Given the description of an element on the screen output the (x, y) to click on. 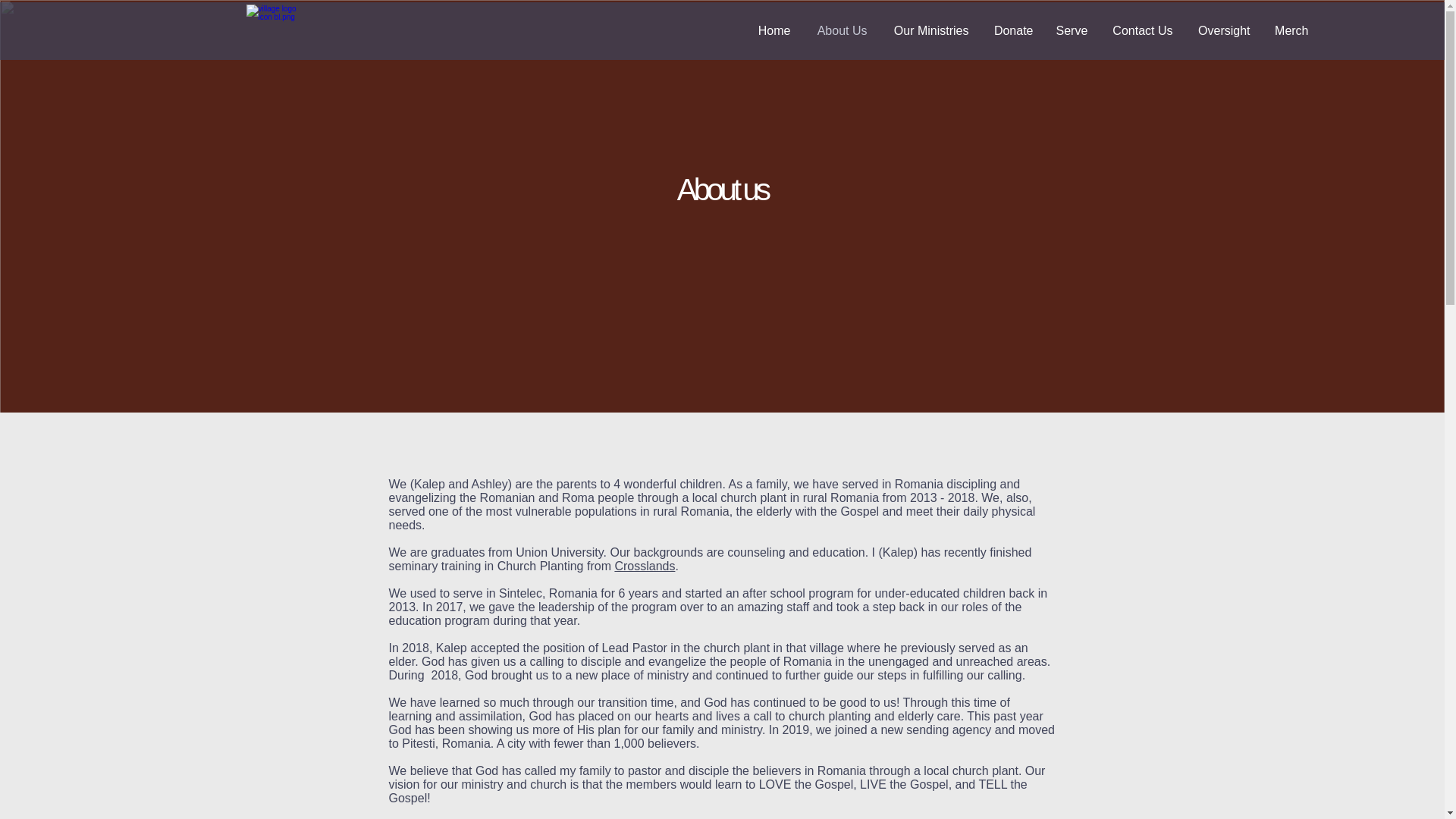
Home (773, 30)
About Us (840, 30)
Oversight (1223, 30)
Serve (1072, 30)
Our Ministries (928, 30)
Contact Us (1140, 30)
Crosslands (644, 565)
Merch (1291, 30)
Donate (1011, 30)
